Given the description of an element on the screen output the (x, y) to click on. 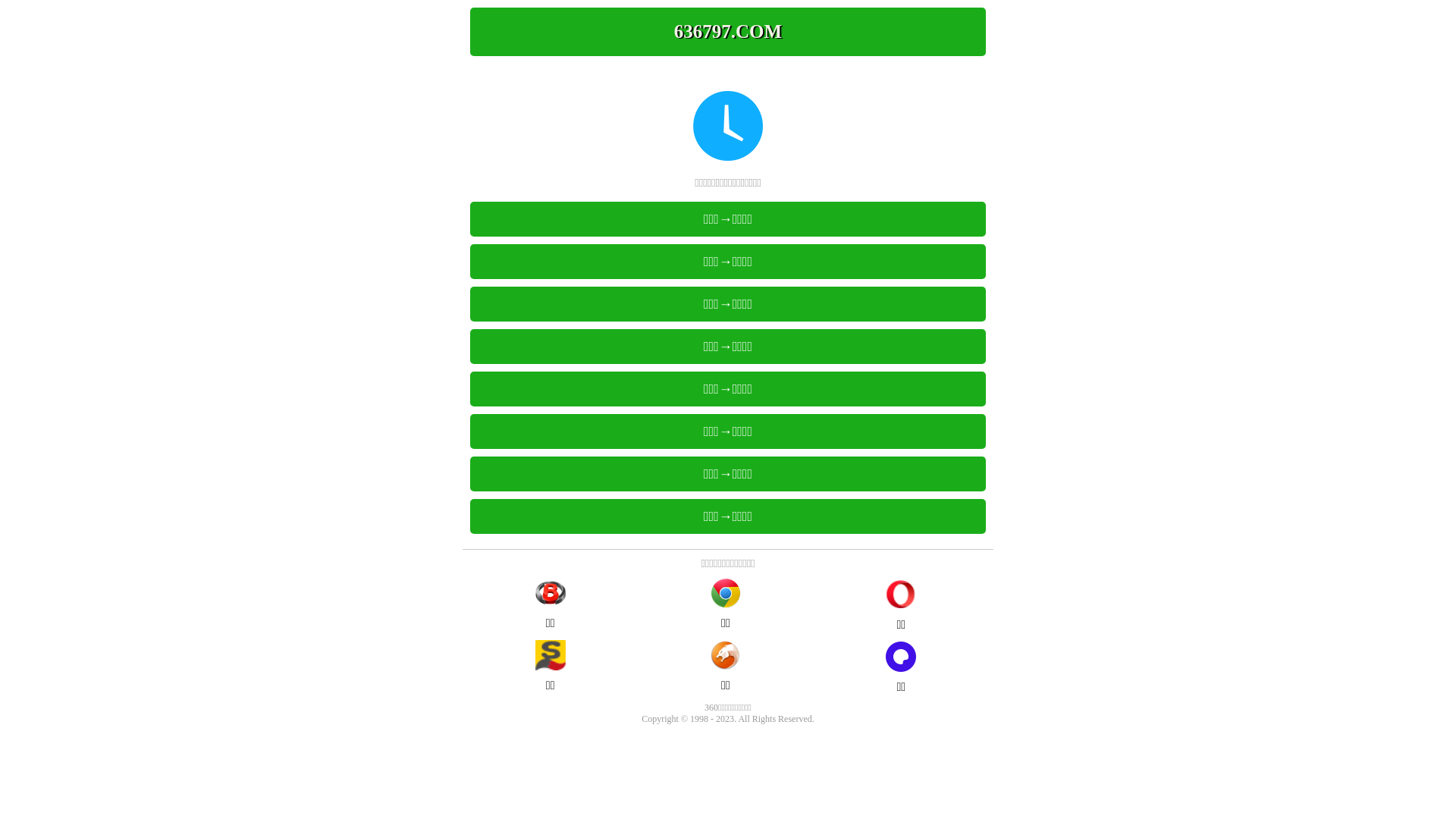
636797.COM Element type: text (727, 31)
